Given the description of an element on the screen output the (x, y) to click on. 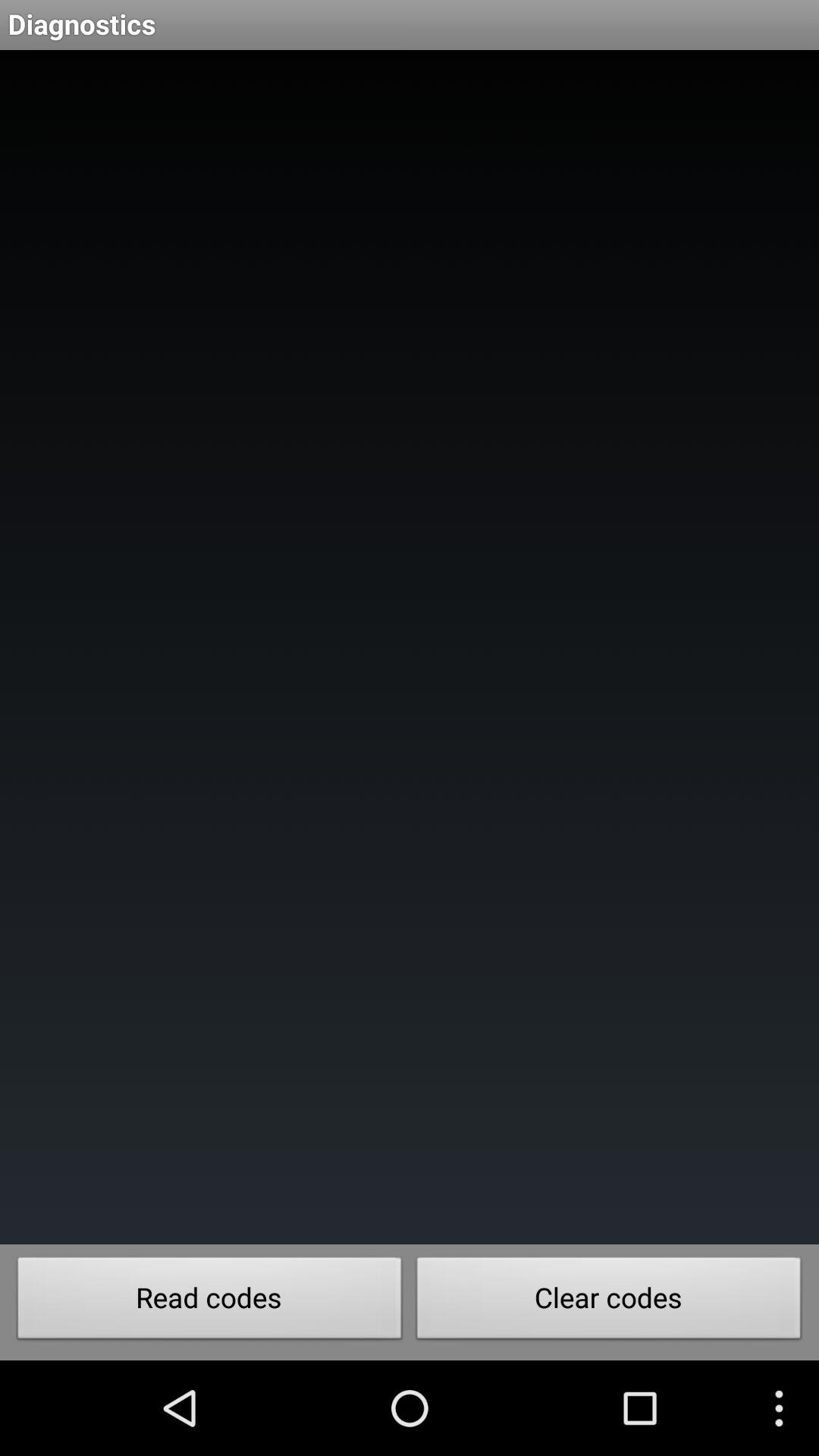
select button at the bottom left corner (209, 1302)
